Given the description of an element on the screen output the (x, y) to click on. 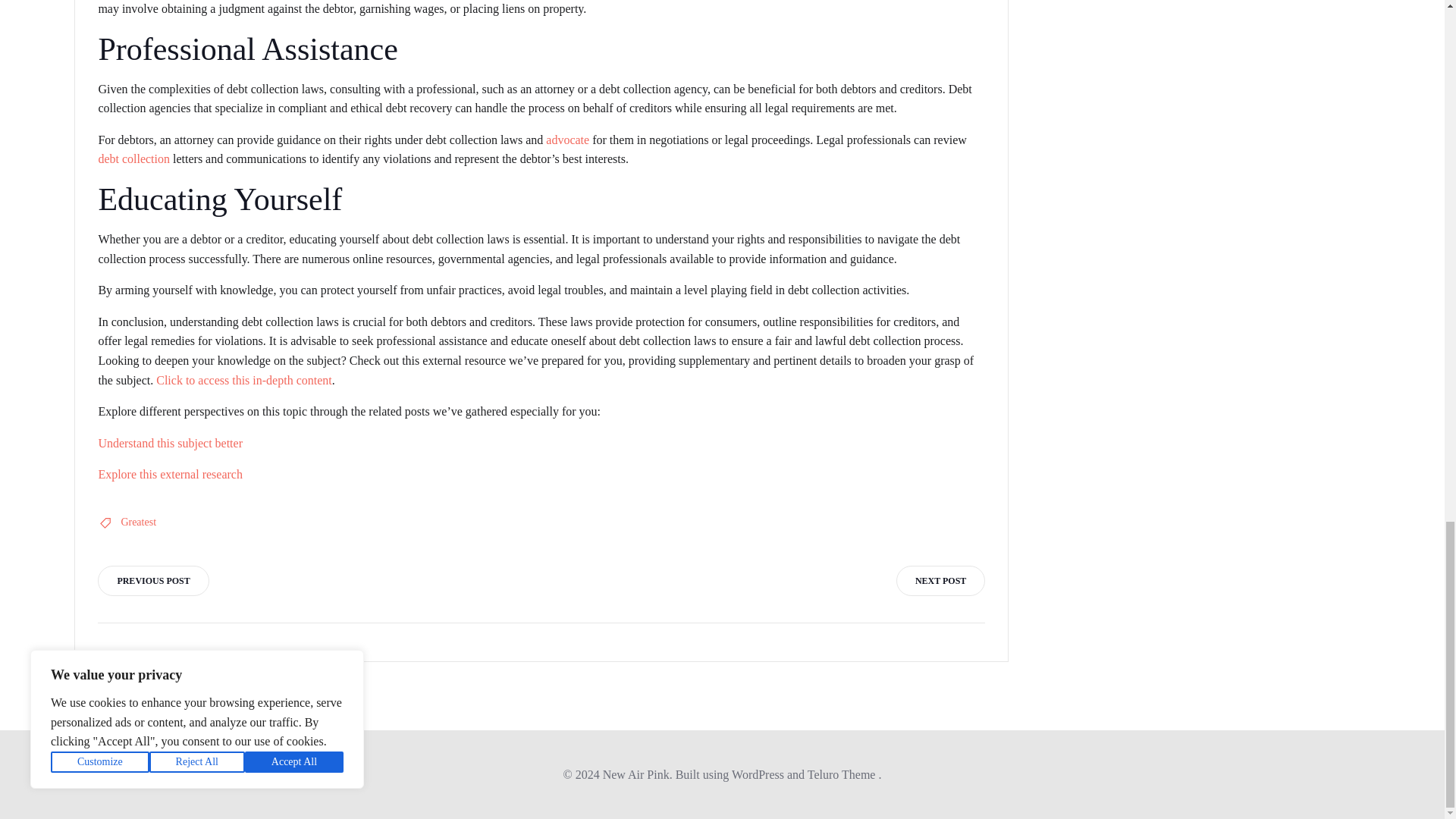
debt collection (133, 158)
NEXT POST (940, 580)
Greatest (137, 522)
Explore this external research (170, 473)
advocate (567, 139)
Tag: Greatest (137, 522)
Understand this subject better (170, 442)
Click to access this in-depth content (243, 379)
PREVIOUS POST (152, 580)
